Given the description of an element on the screen output the (x, y) to click on. 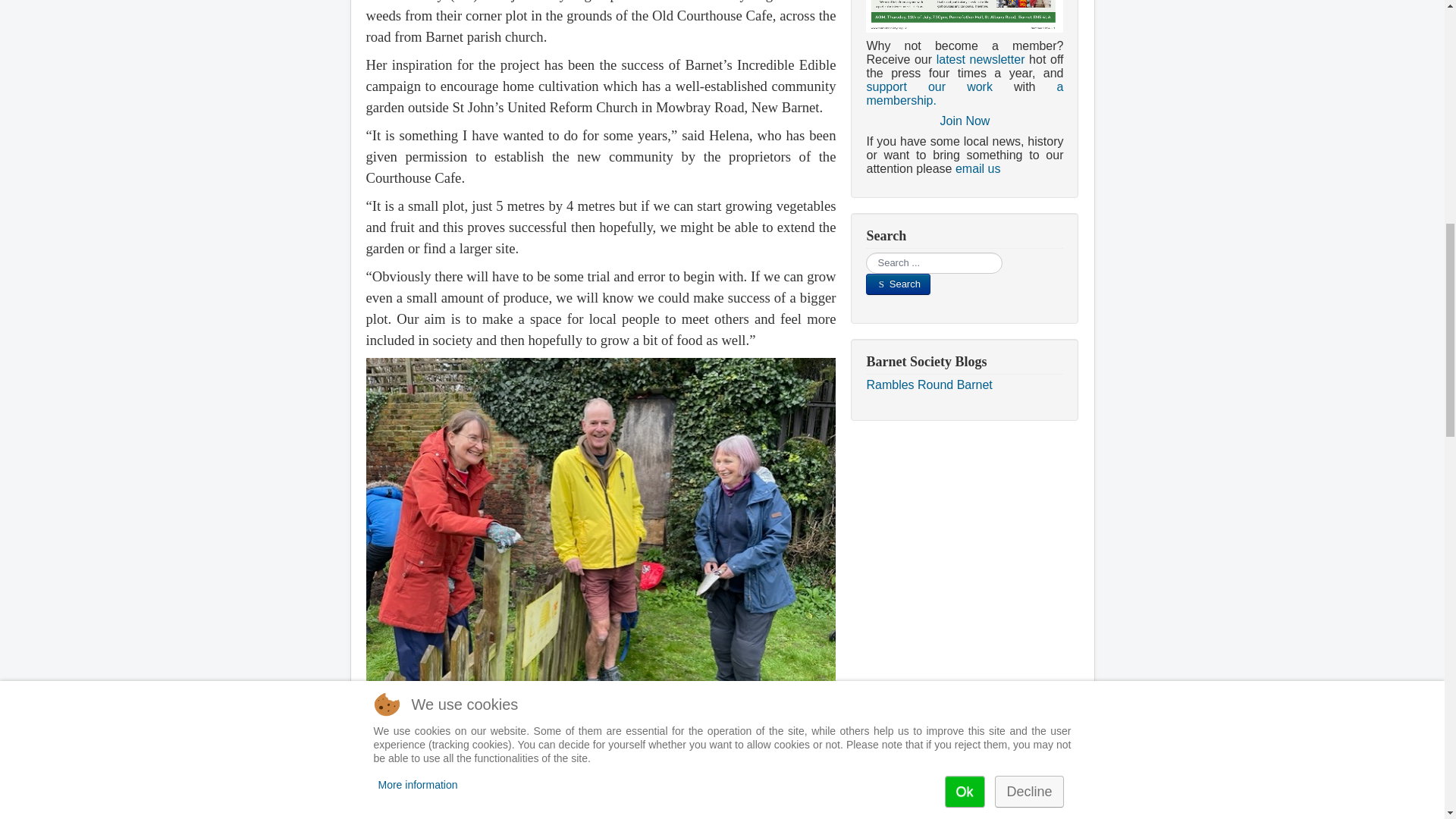
support our work (928, 86)
a membership. (964, 93)
latest newsletter (980, 59)
Join Now (965, 120)
Search (898, 283)
email us (978, 168)
